Given the description of an element on the screen output the (x, y) to click on. 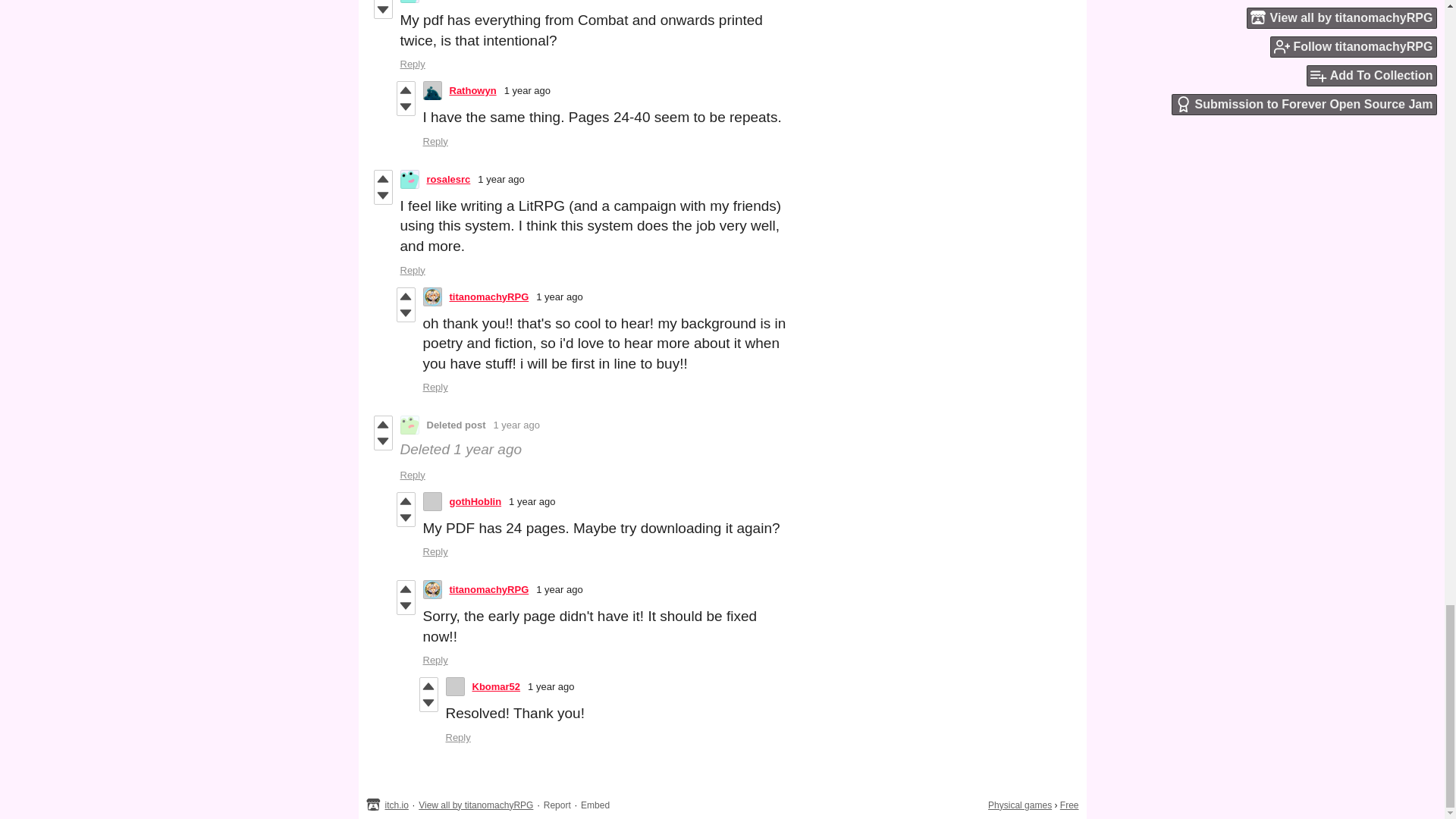
Rathowyn (472, 90)
Vote down (405, 106)
1 year ago (526, 90)
Reply (412, 63)
Vote down (405, 312)
Vote down (382, 9)
Reply (435, 141)
Vote up (382, 424)
Vote down (382, 195)
2023-01-22 14:07:07 (558, 296)
2022-10-10 14:17:13 (516, 424)
Vote up (382, 178)
Vote up (405, 296)
Vote down (382, 441)
